Given the description of an element on the screen output the (x, y) to click on. 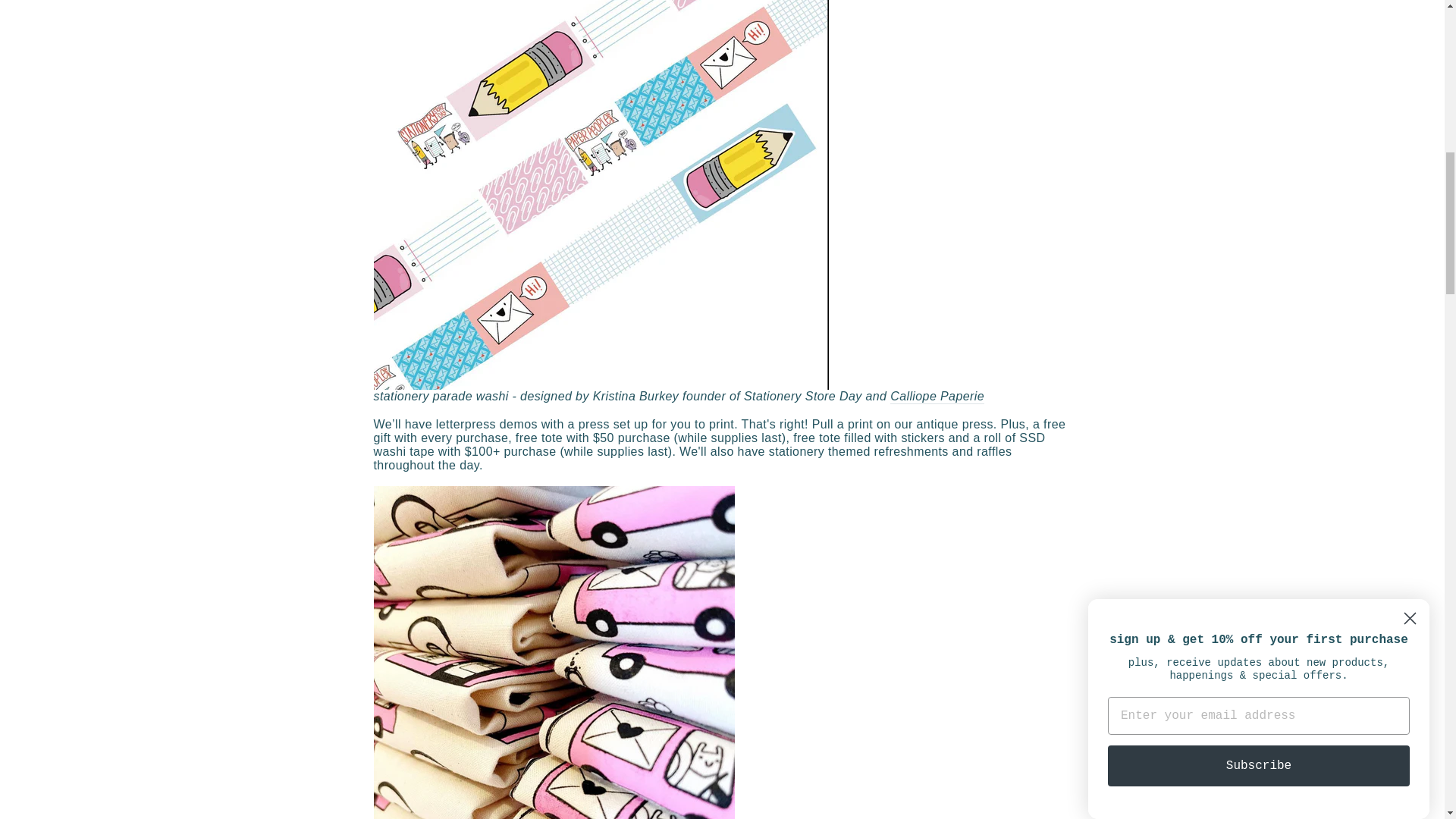
Calliope paperie (936, 396)
